Given the description of an element on the screen output the (x, y) to click on. 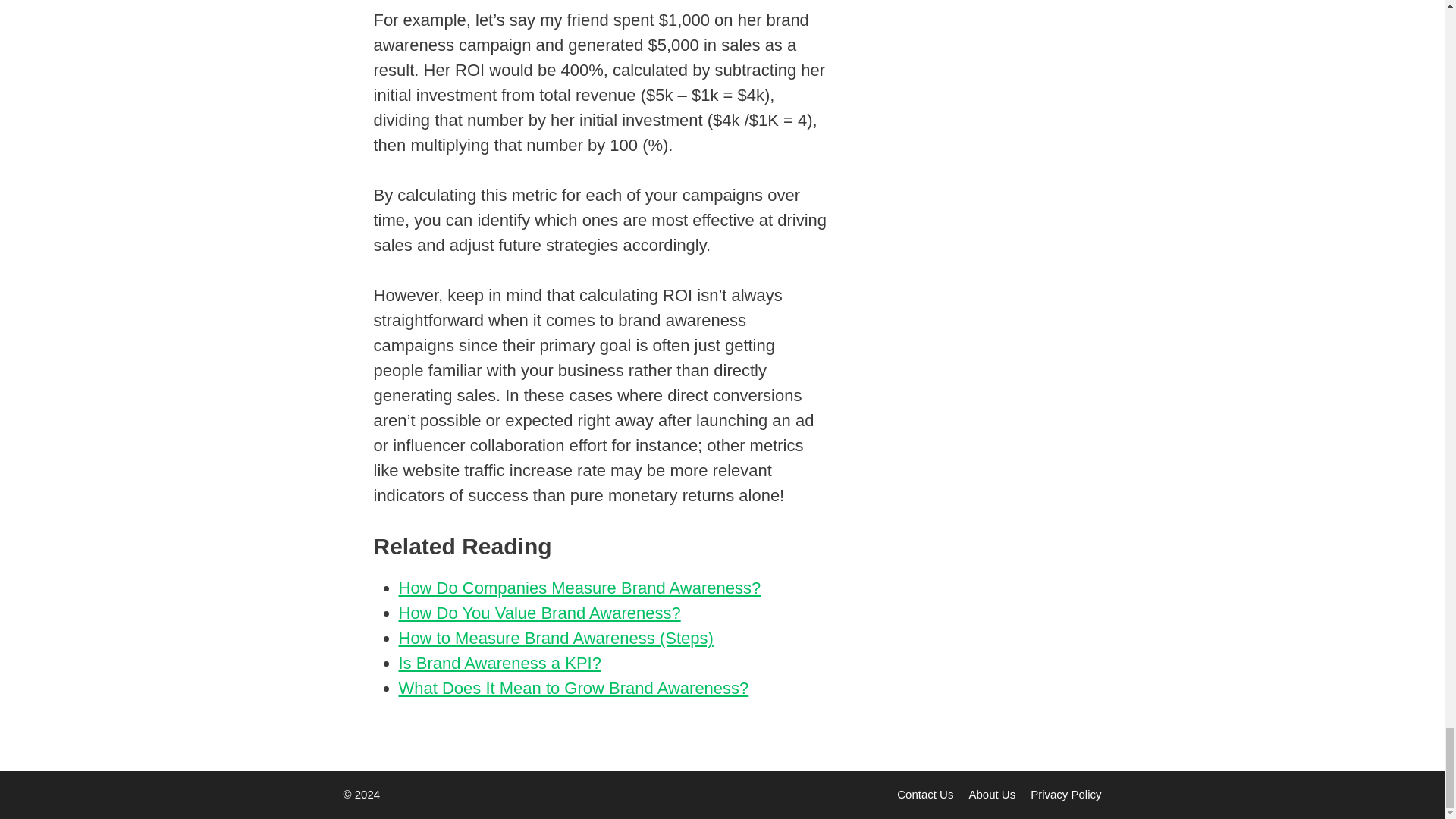
What Does It Mean to Grow Brand Awareness? (573, 687)
Is Brand Awareness a KPI? (499, 662)
Contact Us (924, 793)
Is Brand Awareness a KPI? (499, 662)
How Do You Value Brand Awareness? (539, 612)
How Do Companies Measure Brand Awareness? (579, 587)
What Does It Mean to Grow Brand Awareness? (573, 687)
How Do Companies Measure Brand Awareness? (579, 587)
Privacy Policy (1065, 793)
How Do You Value Brand Awareness? (539, 612)
